Given the description of an element on the screen output the (x, y) to click on. 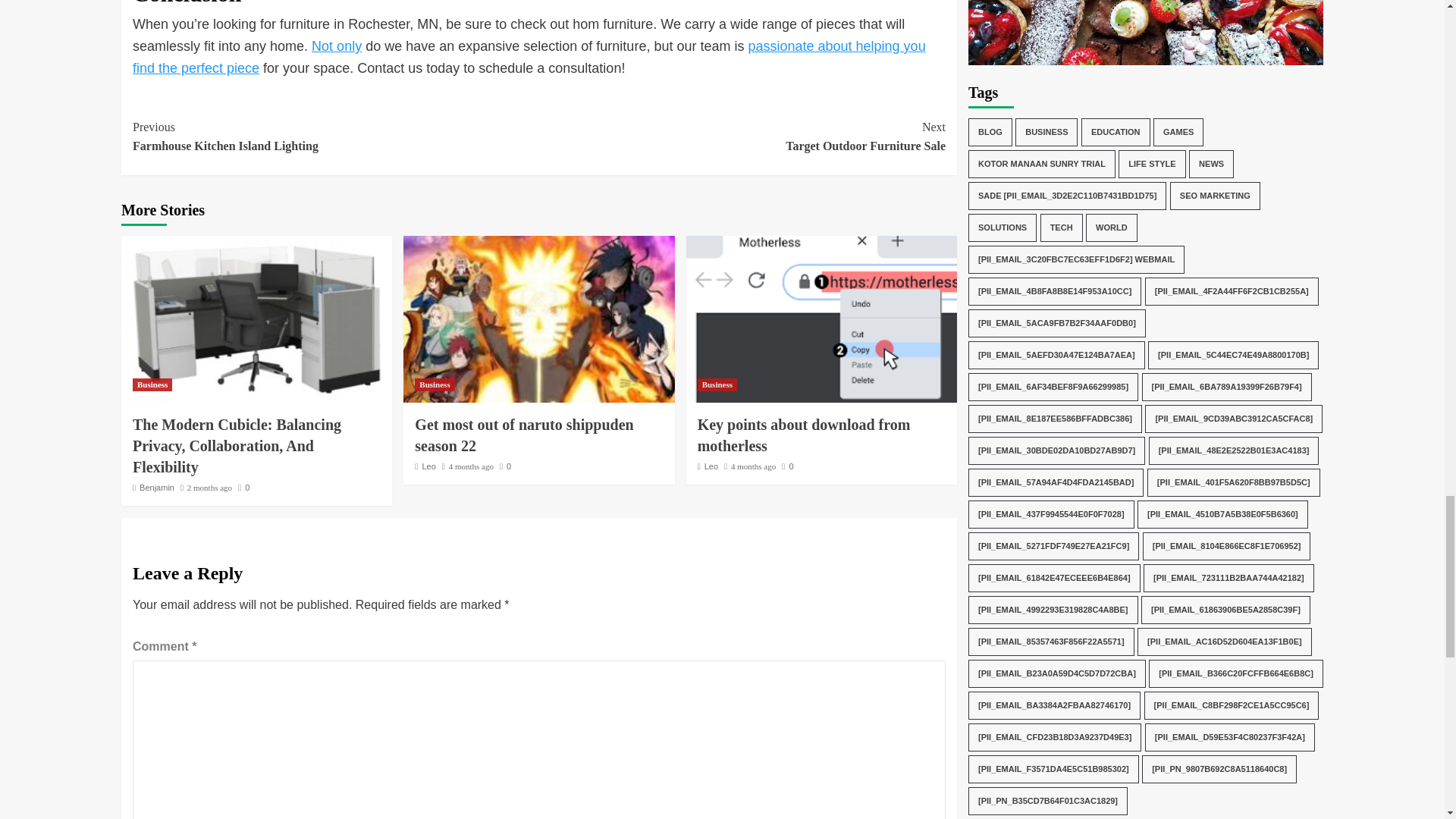
passionate about helping you find the perfect piece (529, 57)
Not only (336, 46)
Business (741, 136)
Benjamin (335, 136)
2 months ago (151, 384)
